Given the description of an element on the screen output the (x, y) to click on. 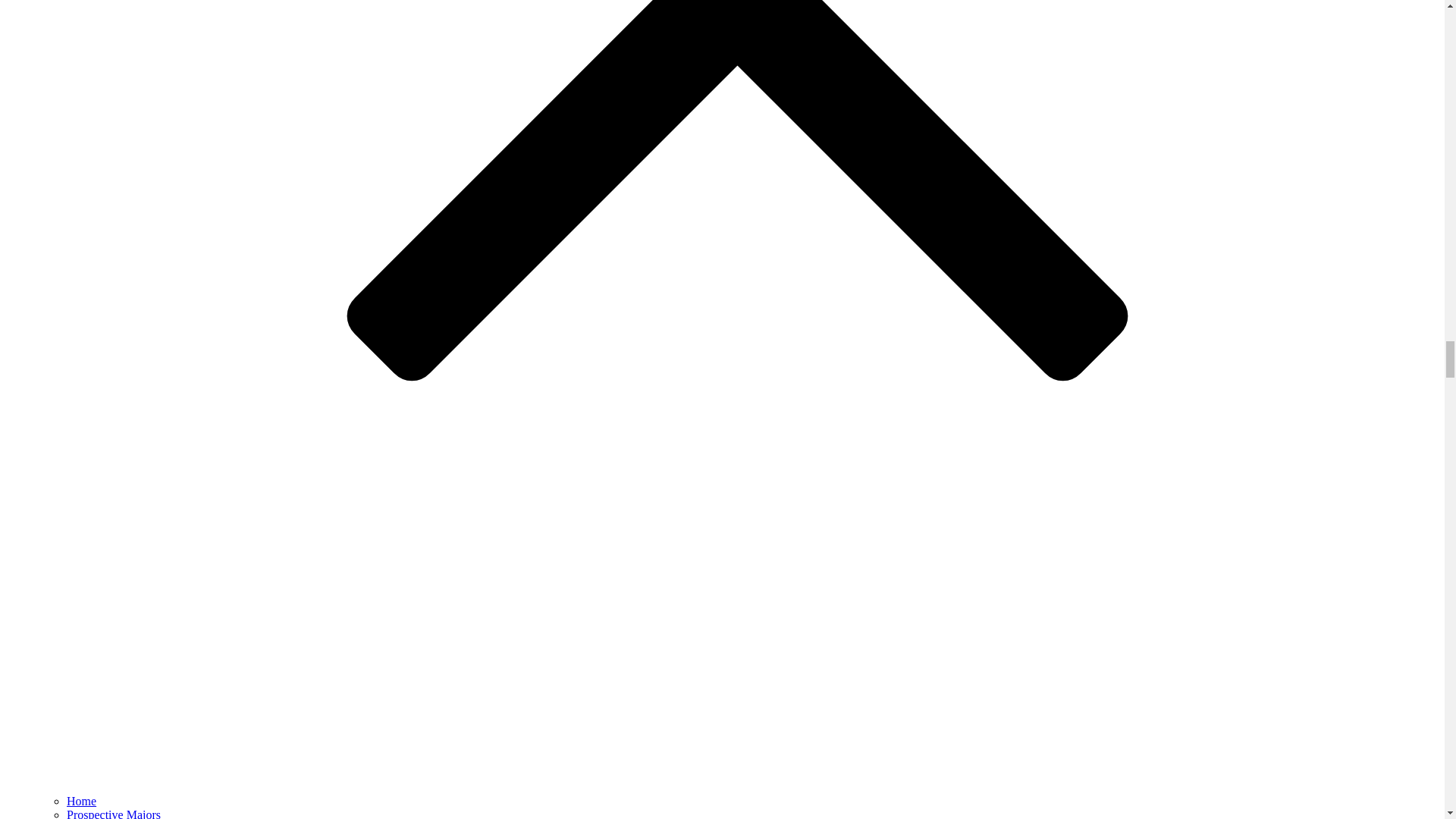
Prospective Majors (113, 813)
Home (81, 800)
